Given the description of an element on the screen output the (x, y) to click on. 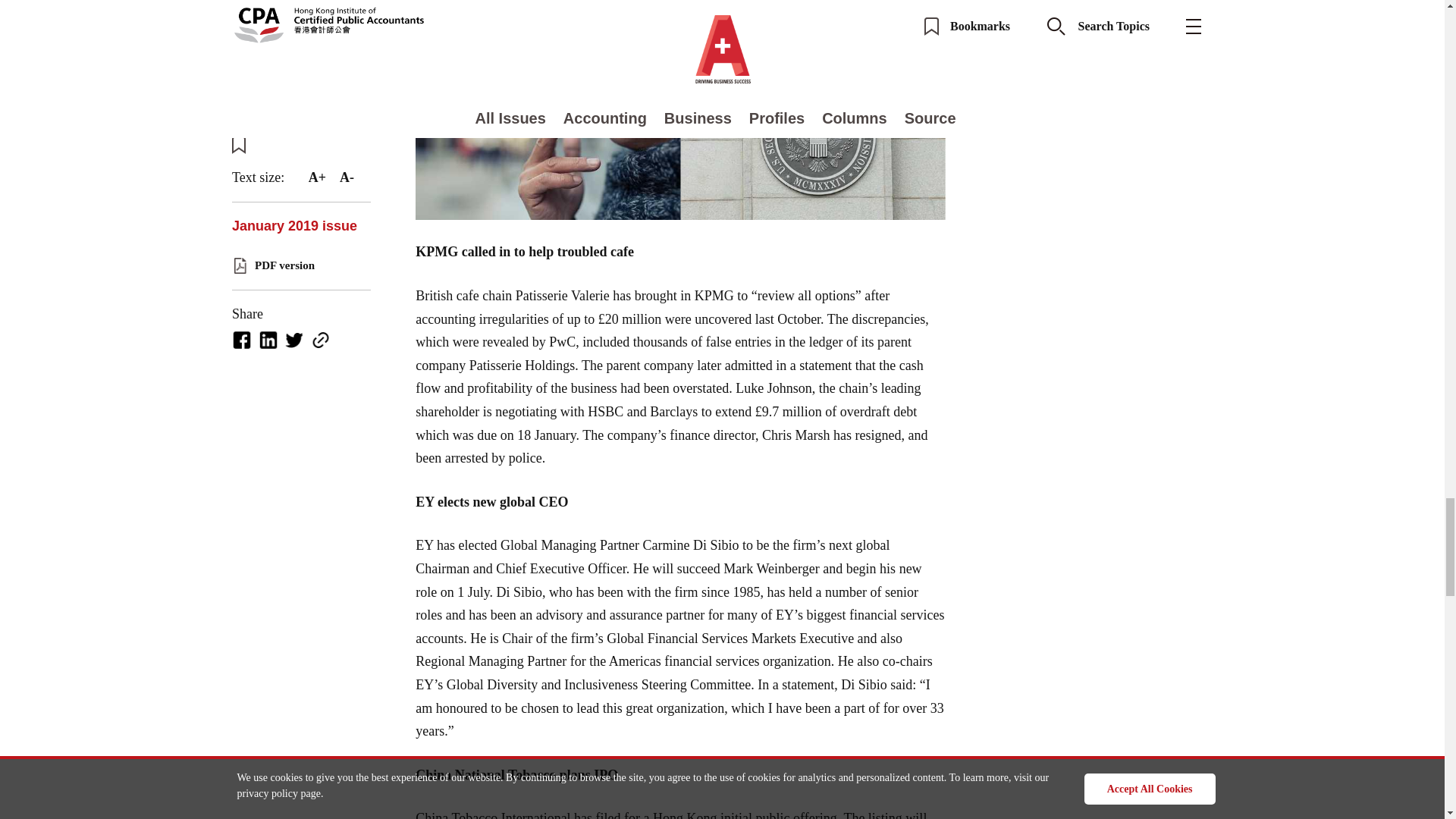
Page 3 (680, 791)
